Given the description of an element on the screen output the (x, y) to click on. 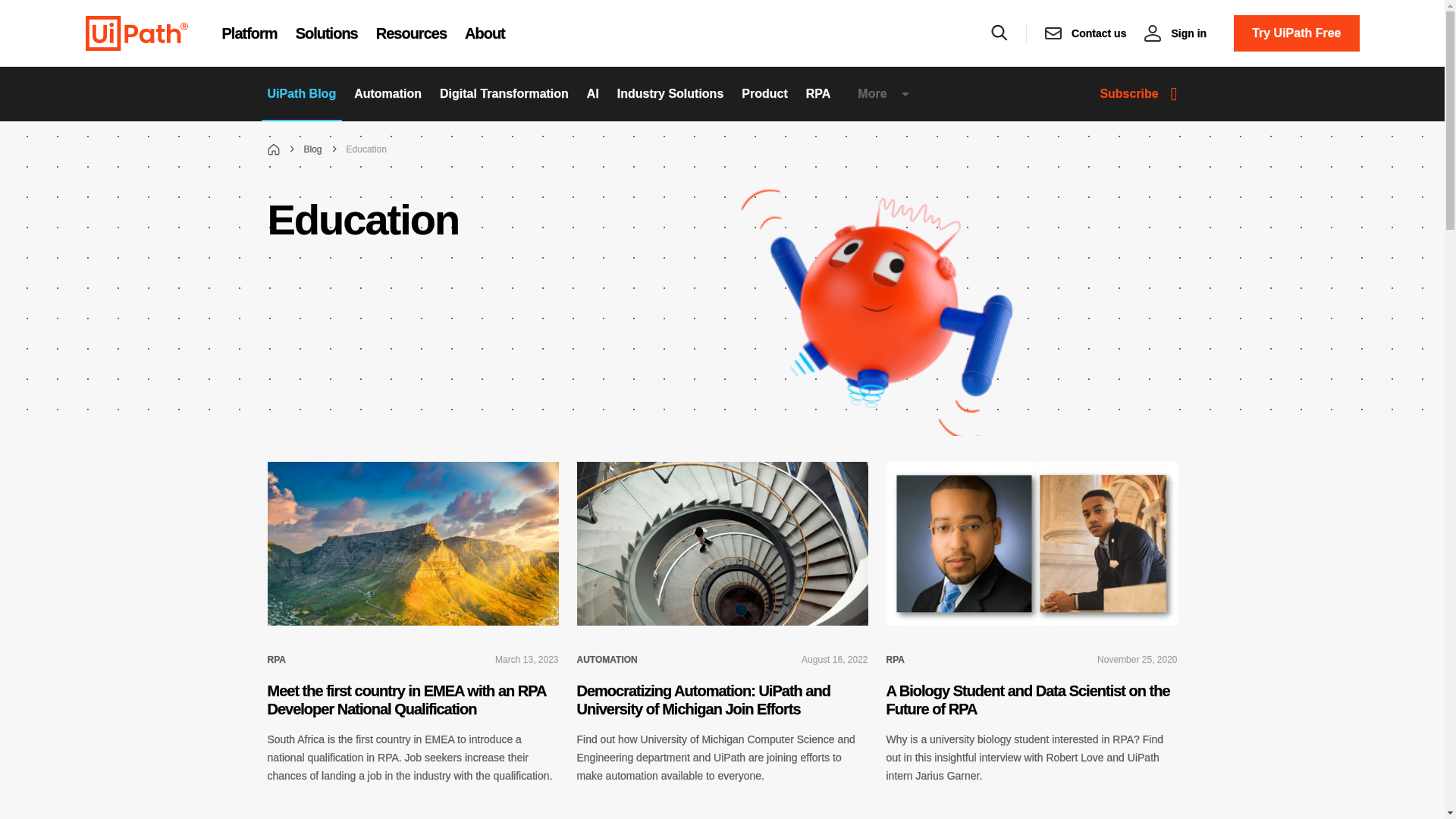
Platform (248, 33)
Solutions (326, 33)
